Given the description of an element on the screen output the (x, y) to click on. 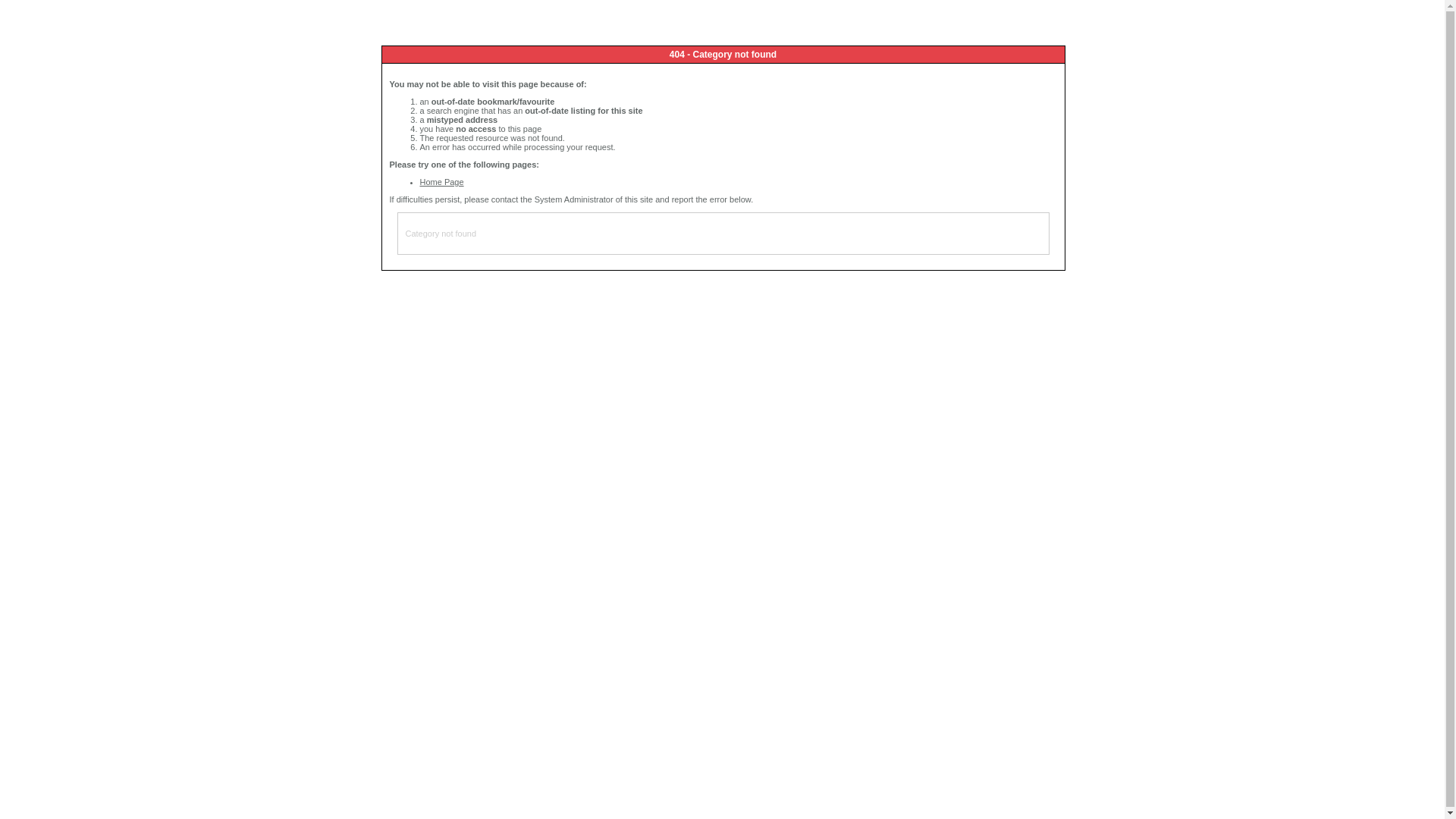
Home Page Element type: text (442, 181)
